Given the description of an element on the screen output the (x, y) to click on. 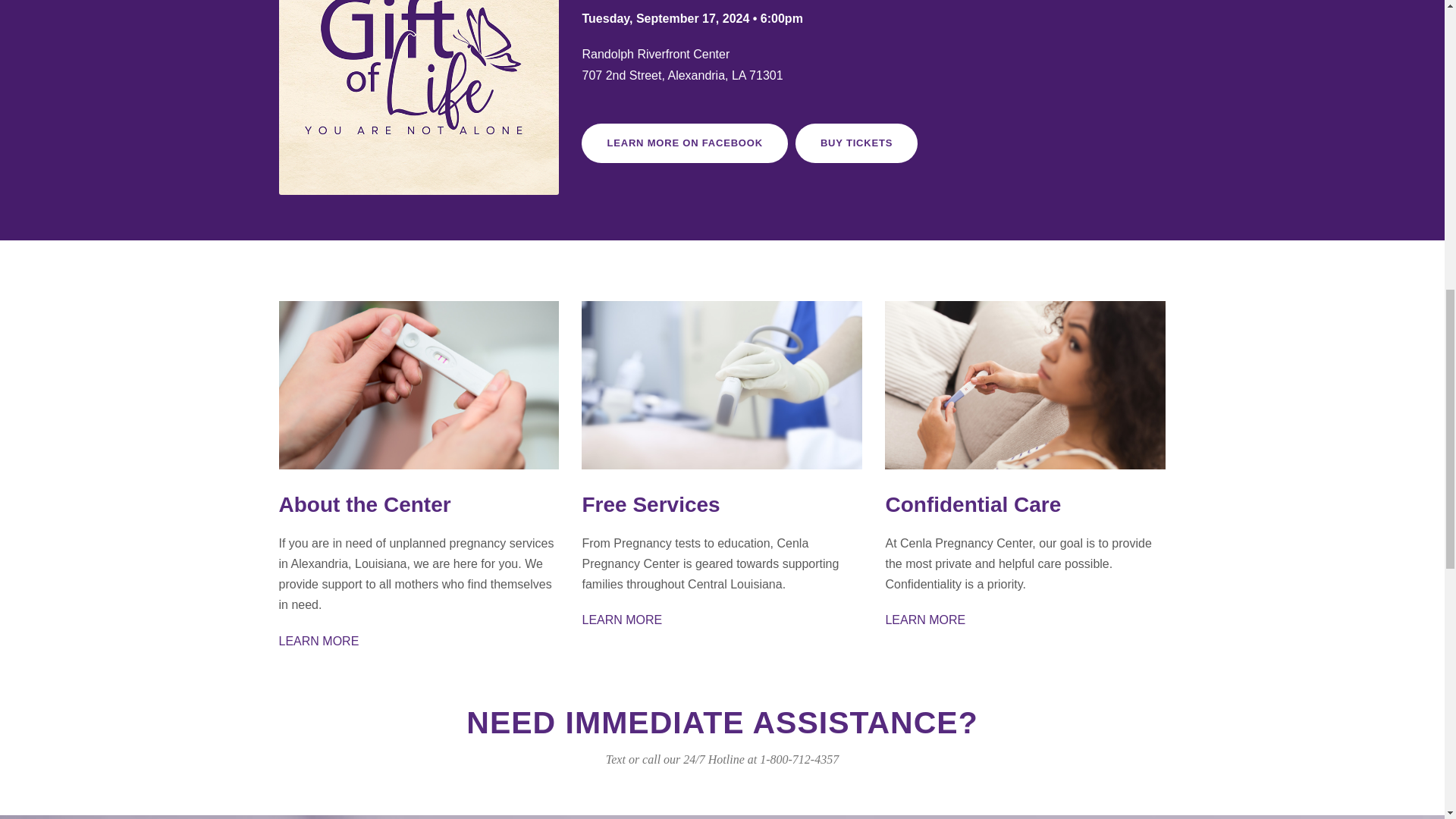
LEARN MORE (621, 619)
Free Services (720, 385)
LEARN MORE ON FACEBOOK (683, 143)
About Cenla Pregnancy Center (419, 385)
LEARN MORE (319, 640)
LEARN MORE (925, 619)
BUY TICKETS (855, 143)
About the Center (365, 504)
Free Services (649, 504)
Confidential Care (973, 504)
Confidential Care (1025, 385)
Gift of Life (419, 97)
